Given the description of an element on the screen output the (x, y) to click on. 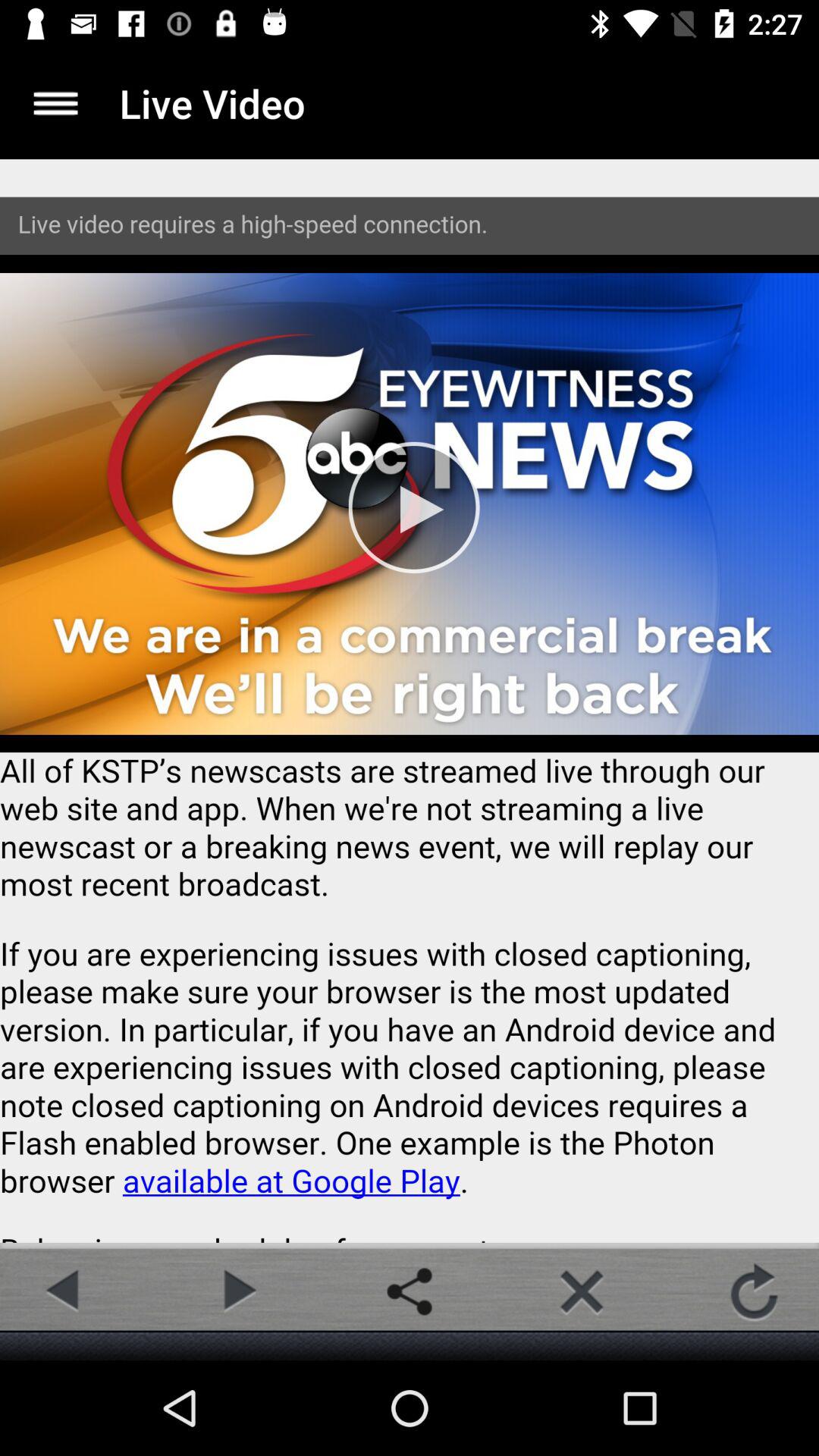
go to full (55, 103)
